Given the description of an element on the screen output the (x, y) to click on. 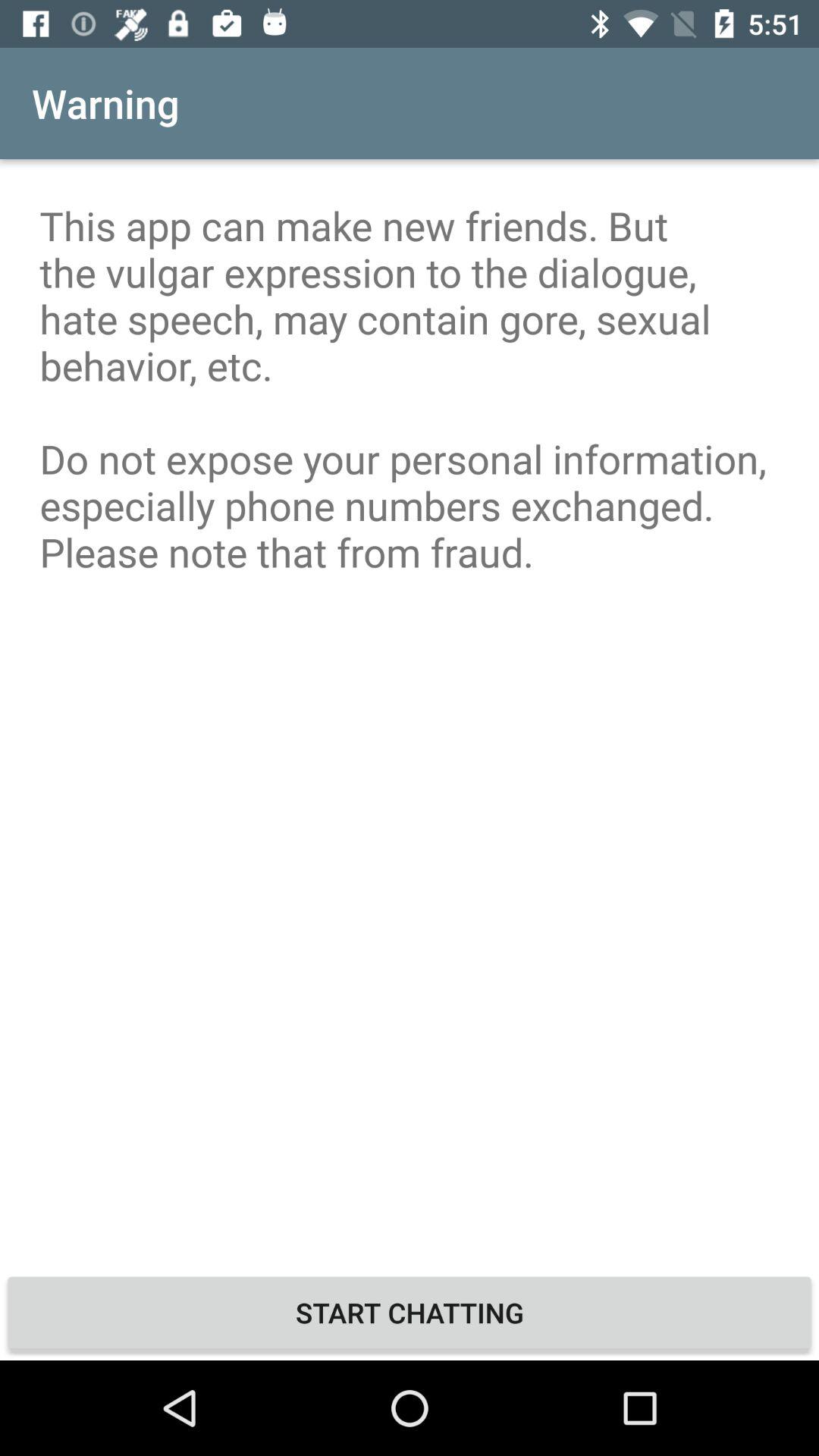
jump until the start chatting icon (409, 1312)
